Given the description of an element on the screen output the (x, y) to click on. 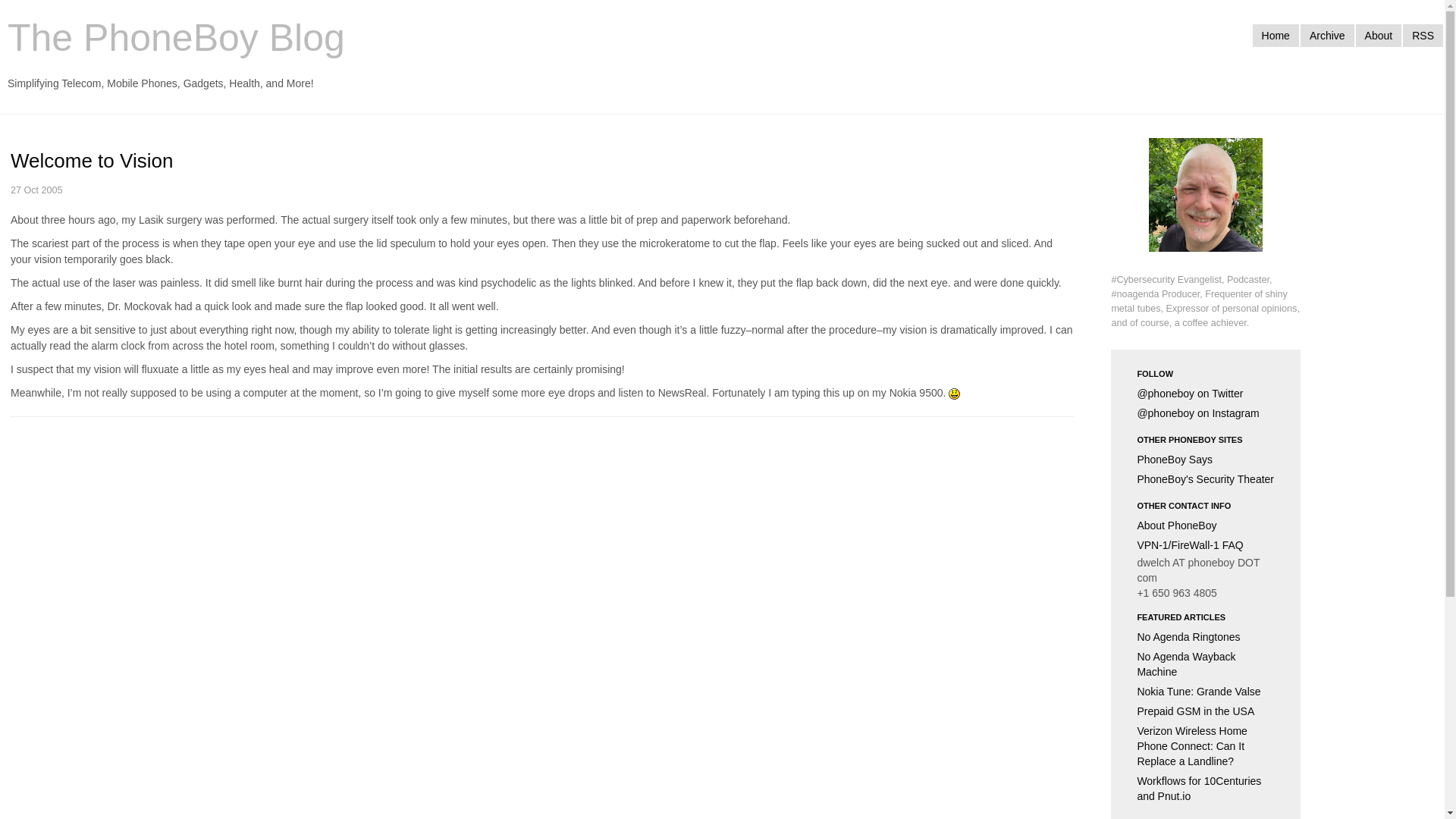
No Agenda Wayback Machine (1205, 664)
Workflows for 10Centuries and Pnut.io (1205, 788)
Home (1275, 35)
No Agenda Ringtones (1205, 637)
PhoneBoy Says (1205, 459)
About (1378, 35)
About me (1205, 204)
RSS (1422, 35)
About PhoneBoy (1205, 525)
Archive (1327, 35)
PhoneBoy's Security Theater (1205, 478)
Nokia Tune: Grande Valse (1205, 691)
Prepaid GSM in the USA (1205, 711)
